Given the description of an element on the screen output the (x, y) to click on. 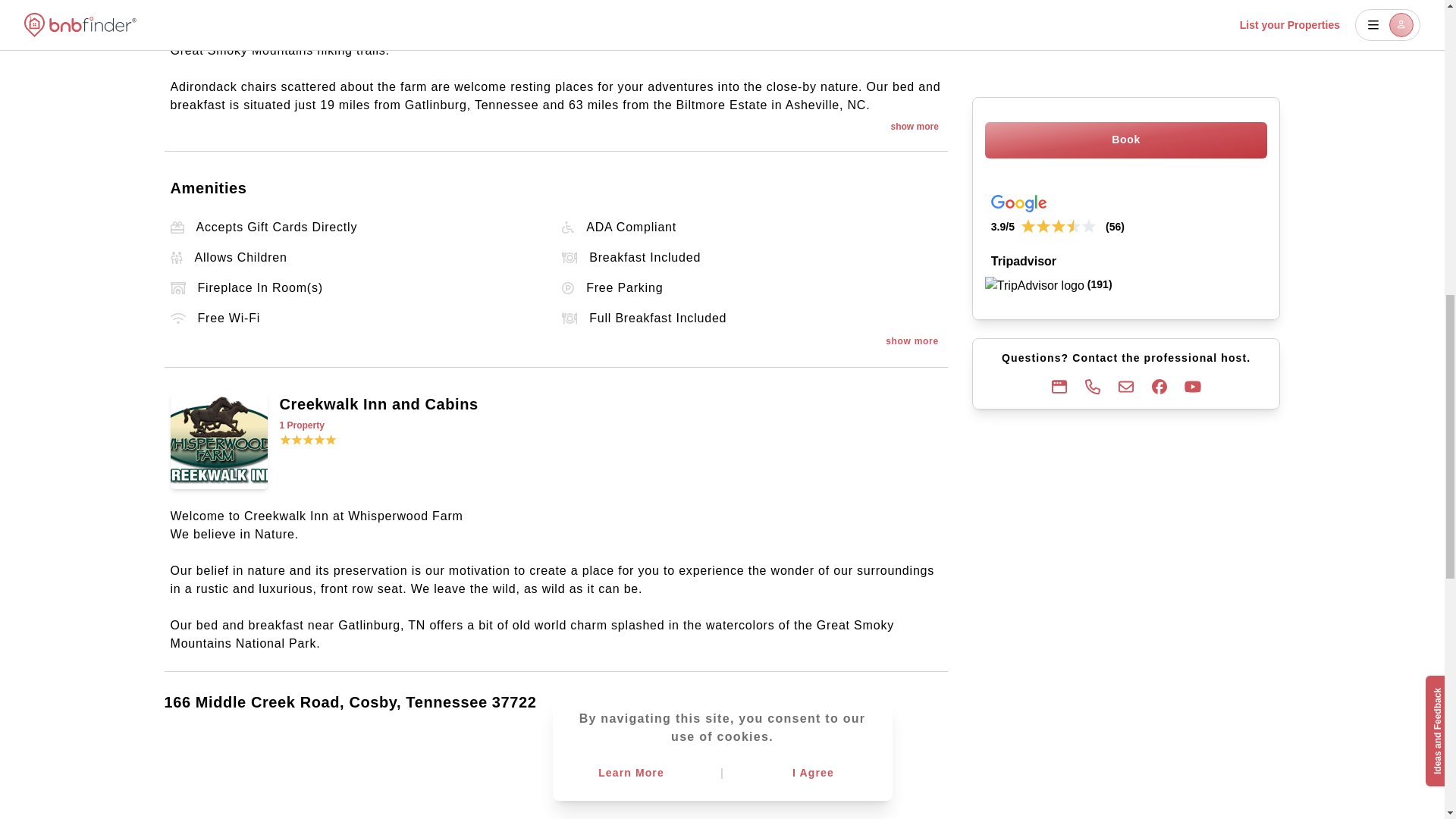
show more (913, 126)
1 Property (609, 425)
show more (911, 340)
